Given the description of an element on the screen output the (x, y) to click on. 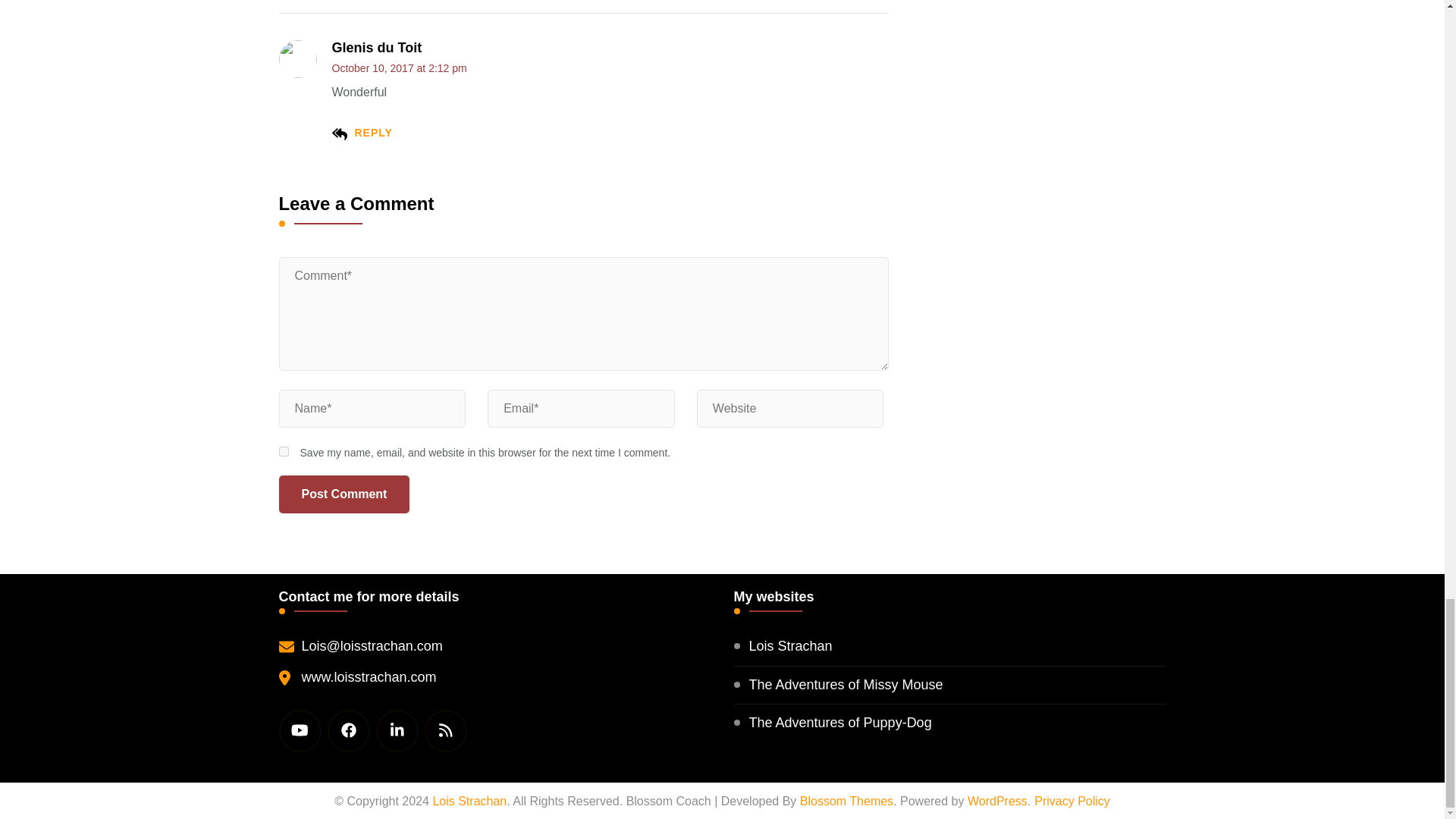
Post Comment (344, 494)
yes (283, 451)
